Given the description of an element on the screen output the (x, y) to click on. 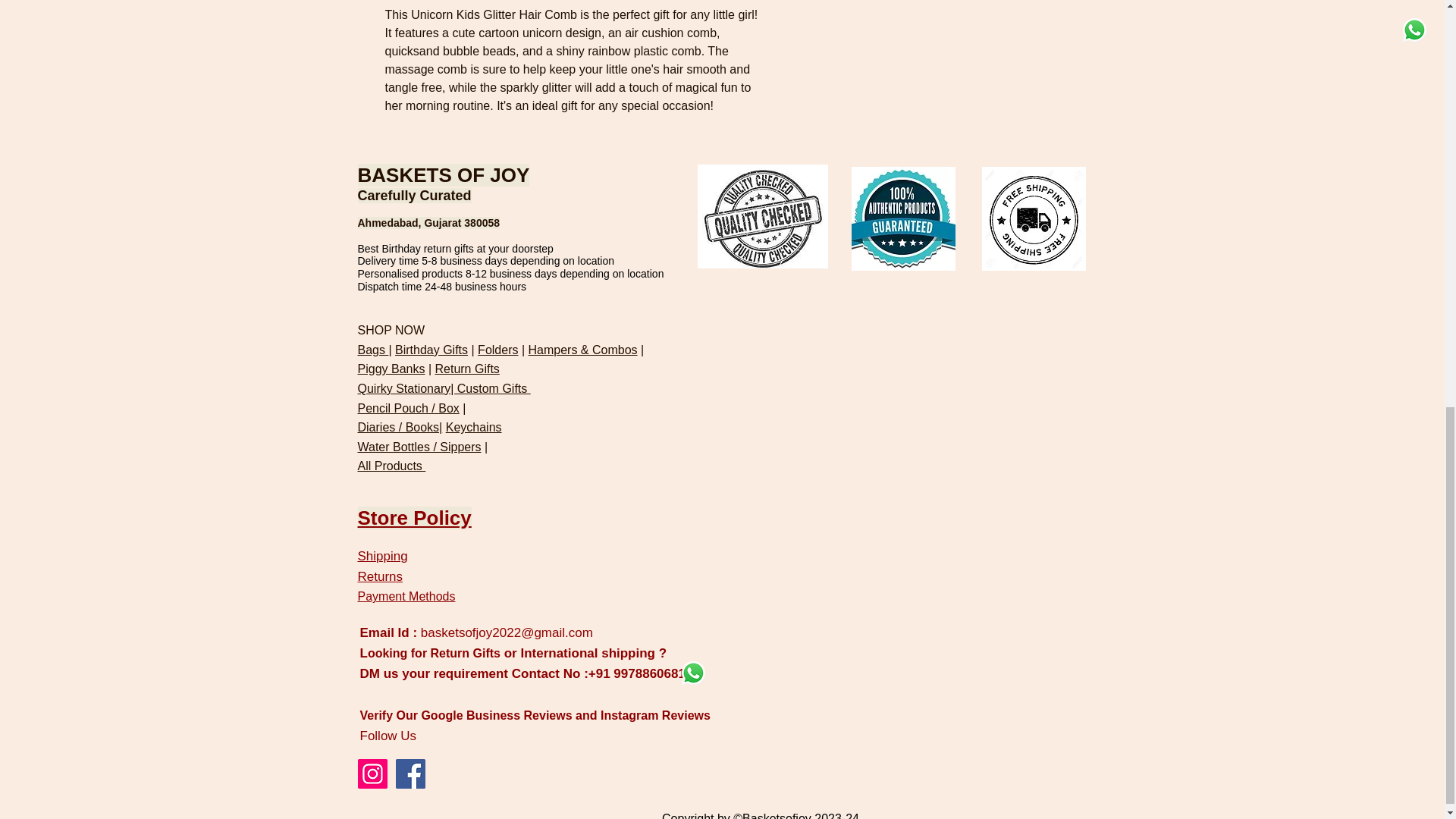
Piggy Banks (391, 368)
Folders (497, 349)
Return Gifts (466, 368)
Birthday Gifts (430, 349)
BASKETS OF JOY (443, 174)
